Given the description of an element on the screen output the (x, y) to click on. 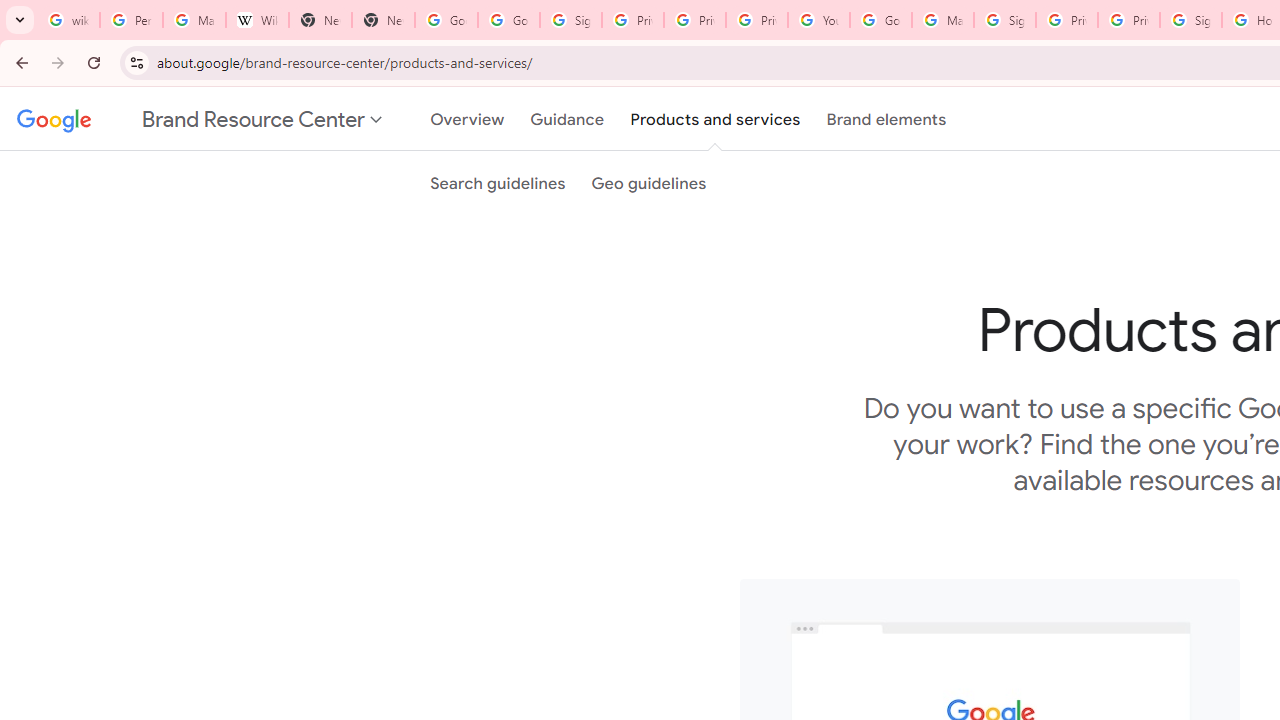
New Tab (320, 20)
Wikipedia:Edit requests - Wikipedia (257, 20)
Personalization & Google Search results - Google Search Help (130, 20)
Search guidelines (497, 183)
Guidance (567, 119)
Products and services (715, 119)
New Tab (383, 20)
